Given the description of an element on the screen output the (x, y) to click on. 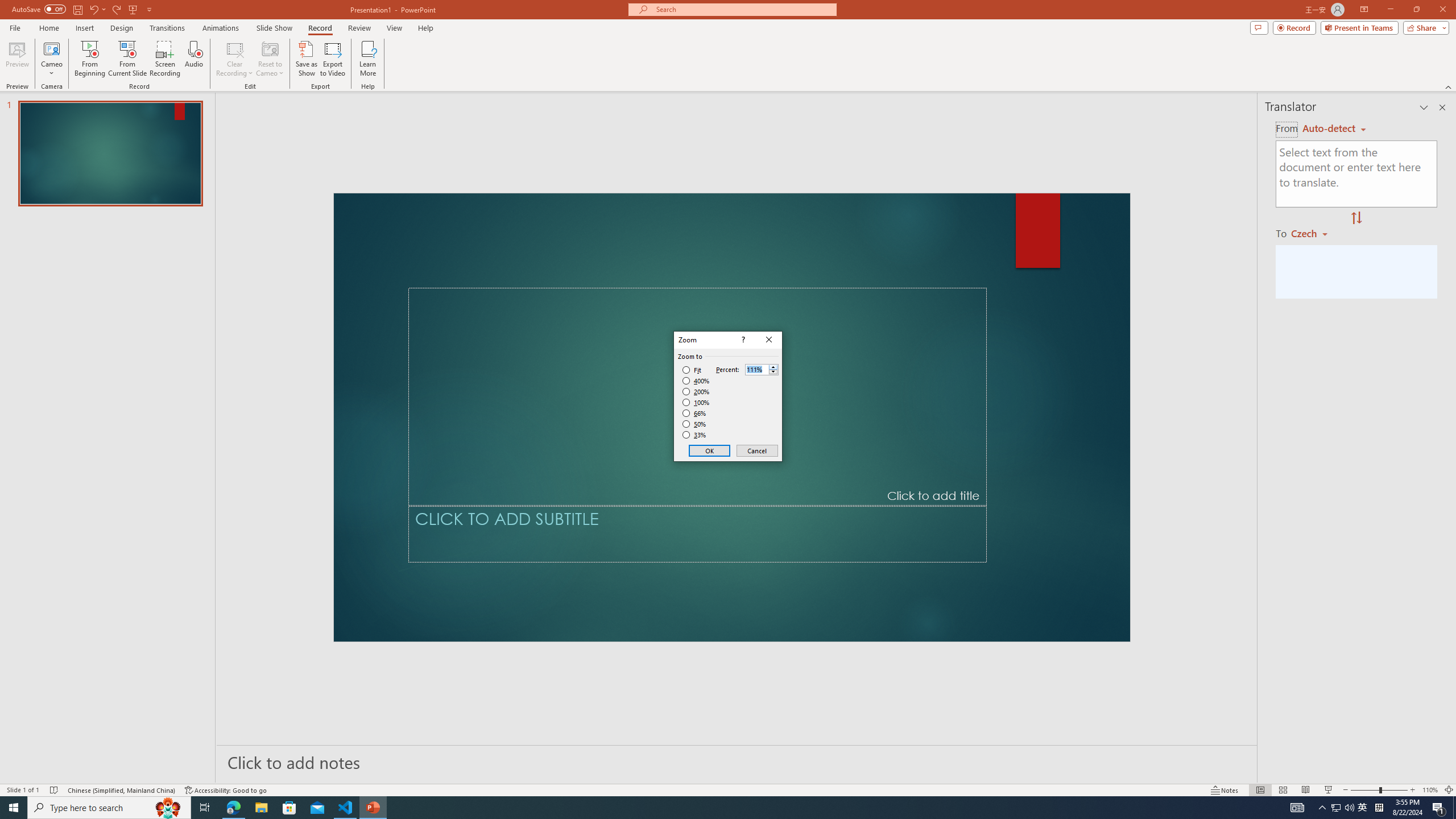
Quick Access Toolbar (133, 18)
Match Fields... (601, 91)
Class: NetUIScrollBar (720, 757)
Zotero (663, 47)
Close (1435, 18)
OfficePLUS (132, 47)
Rules (590, 72)
Insert Merge Field (526, 77)
Accessibility Checker Accessibility: Good to go (302, 773)
Update Labels (604, 112)
Layout (331, 47)
Home (72, 47)
Zoom (1363, 773)
